Given the description of an element on the screen output the (x, y) to click on. 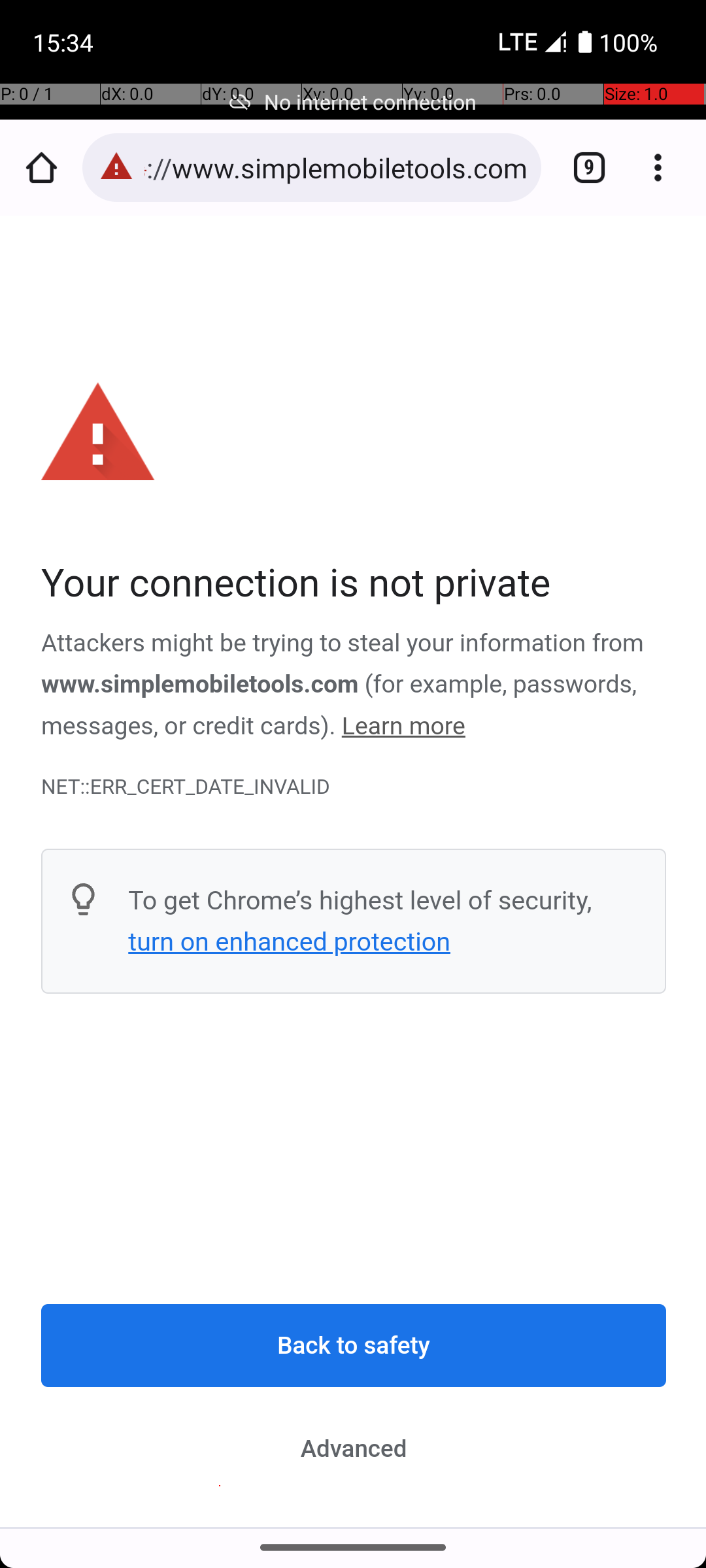
https://www.simplemobiletools.com/donate#paypal Element type: android.widget.EditText (335, 167)
www.simplemobiletools.com Element type: android.widget.TextView (200, 684)
